Given the description of an element on the screen output the (x, y) to click on. 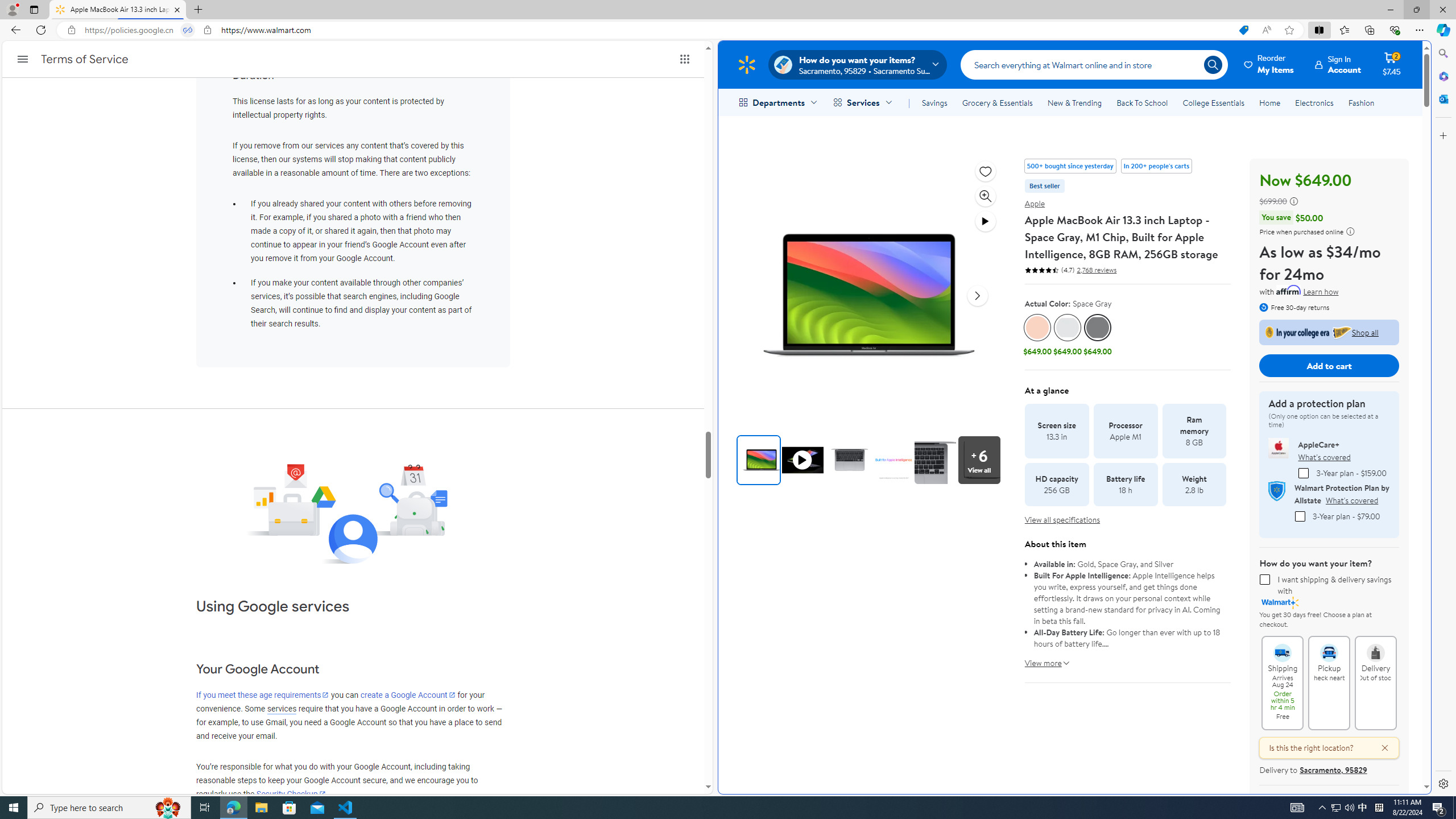
App bar (728, 29)
Space Gray selected, Space Gray, $649.00 (1096, 335)
This site has coupons! Shopping in Microsoft Edge, 7 (1243, 29)
selected, Space Gray, $649.00 (1096, 335)
College Essentials (1213, 102)
Side bar (1443, 418)
Gold Gold, $649.00 (1037, 335)
learn more about strikethrough prices (1294, 201)
